Given the description of an element on the screen output the (x, y) to click on. 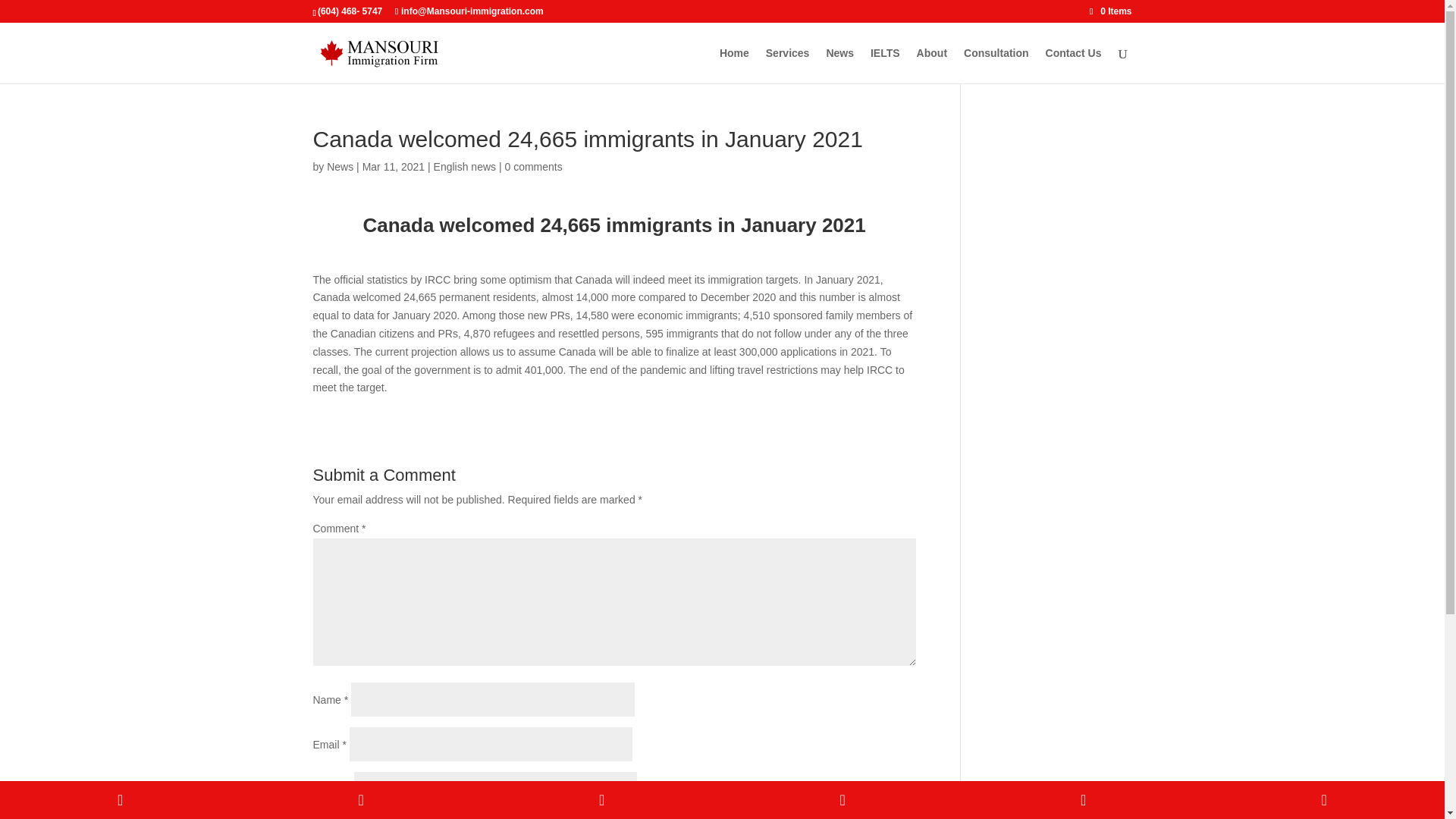
Email Address (601, 800)
English news (464, 166)
Consultation (996, 65)
Phone Number for texting (361, 800)
Phone Number for calling (120, 800)
Contact Us (1073, 65)
News (339, 166)
Services (787, 65)
0 comments (532, 166)
WhatsApp (842, 800)
